Given the description of an element on the screen output the (x, y) to click on. 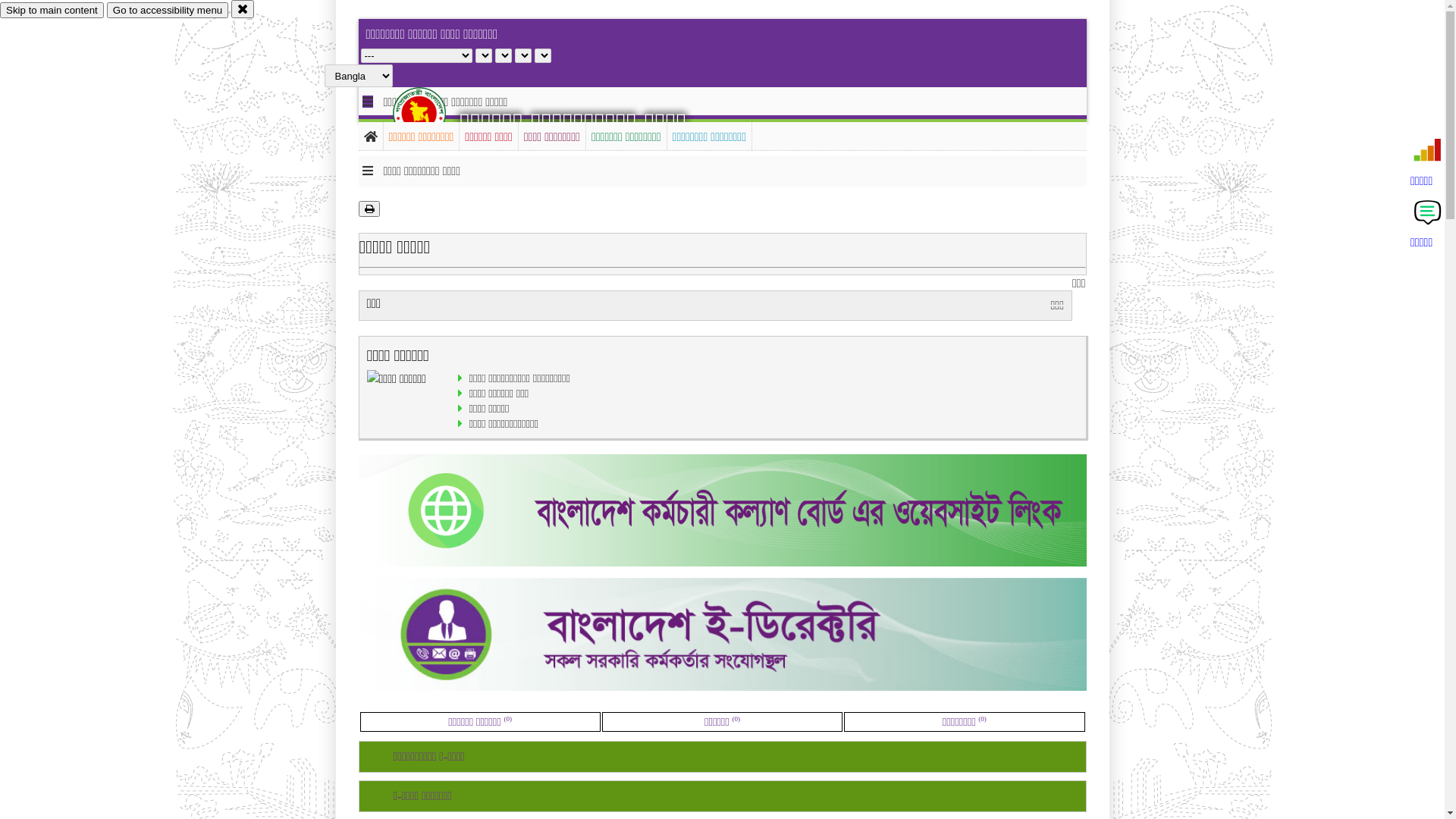

                
             Element type: hover (431, 112)
Skip to main content Element type: text (51, 10)
close Element type: hover (242, 9)
Go to accessibility menu Element type: text (167, 10)
